Given the description of an element on the screen output the (x, y) to click on. 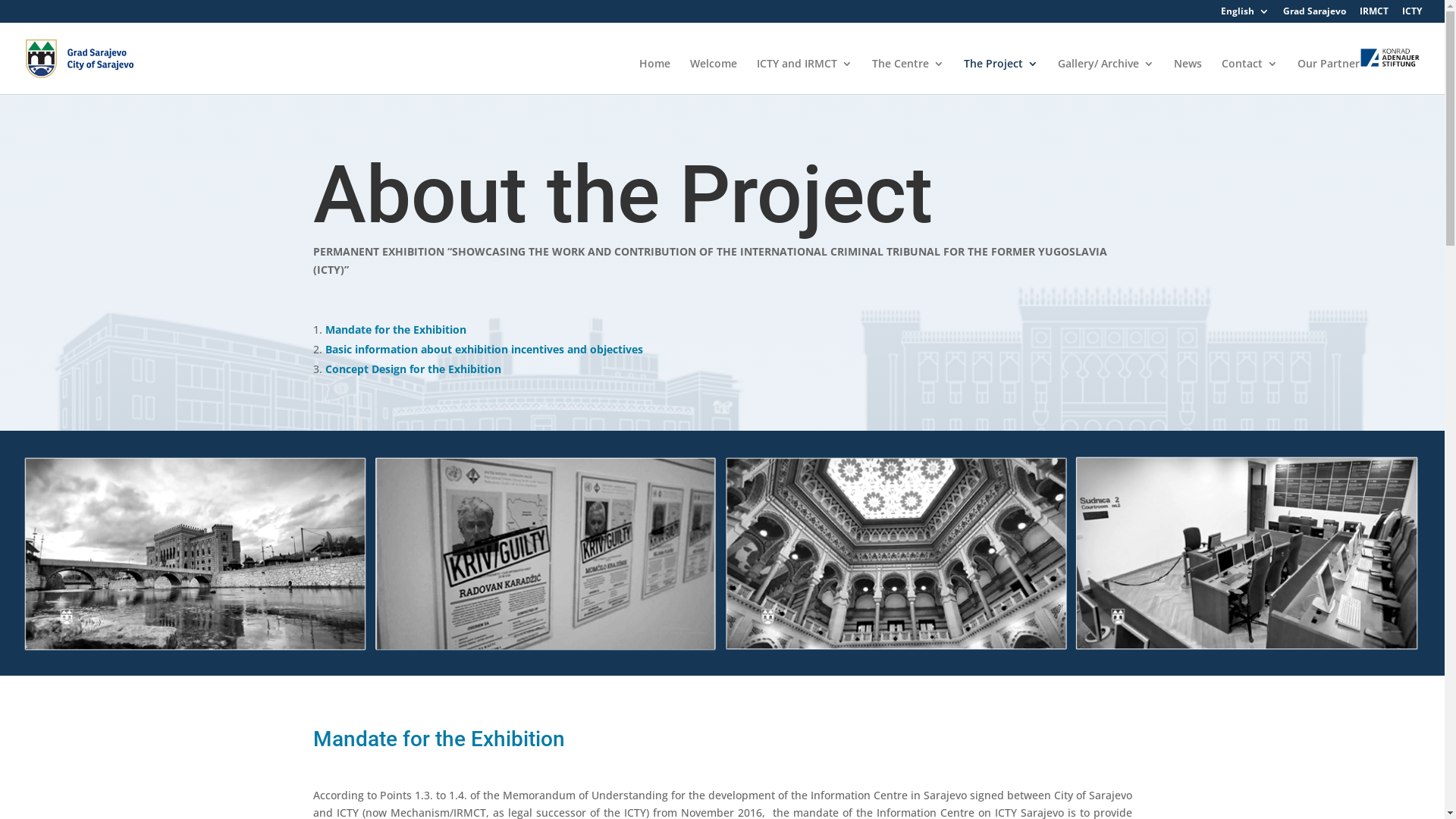
Concept Design for the Exhibition Element type: text (412, 368)
English Element type: text (1244, 14)
Grad Sarajevo Element type: text (1314, 14)
Welcome Element type: text (713, 76)
Home Element type: text (654, 76)
IRMCT Element type: text (1373, 14)
News Element type: text (1187, 76)
The Centre Element type: text (908, 76)
Mandate for the Exhibition Element type: text (394, 329)
ICTY Element type: text (1411, 14)
The Project Element type: text (1000, 76)
ICTY and IRMCT Element type: text (804, 76)
Our Partner Element type: text (1358, 70)
Basic information about exhibition incentives and objectives Element type: text (483, 349)
MKSJ_projekat_galerija Element type: hover (722, 552)
Contact Element type: text (1249, 76)
Gallery/ Archive Element type: text (1105, 76)
